Given the description of an element on the screen output the (x, y) to click on. 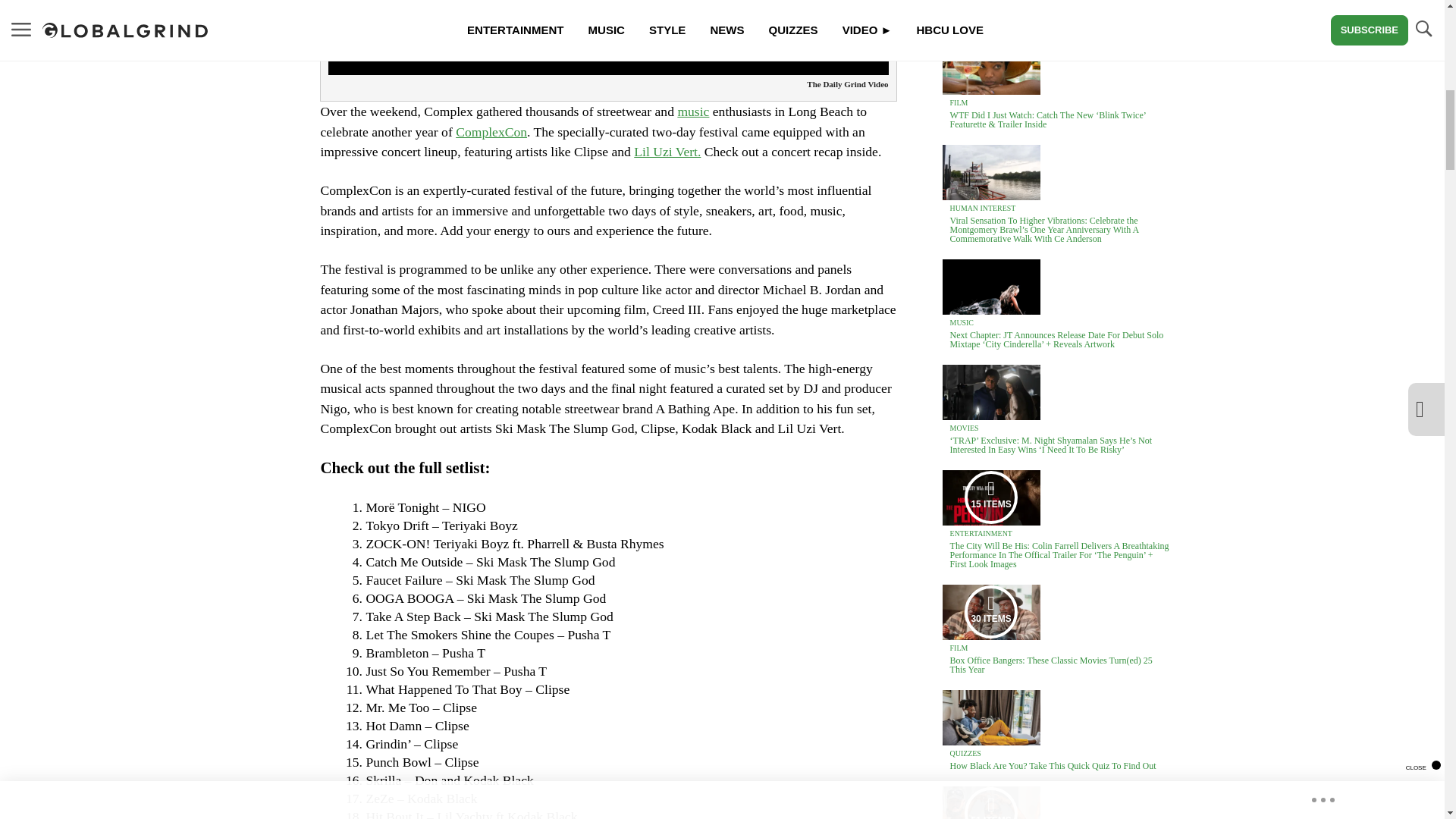
Media Playlist (990, 803)
Lil Uzi Vert. (666, 151)
HUMAN INTEREST (983, 207)
music (693, 111)
ComplexCon (491, 131)
Media Playlist (990, 611)
Media Playlist (990, 497)
MUSIC (962, 322)
MOVIES (964, 428)
FILM (959, 102)
